Given the description of an element on the screen output the (x, y) to click on. 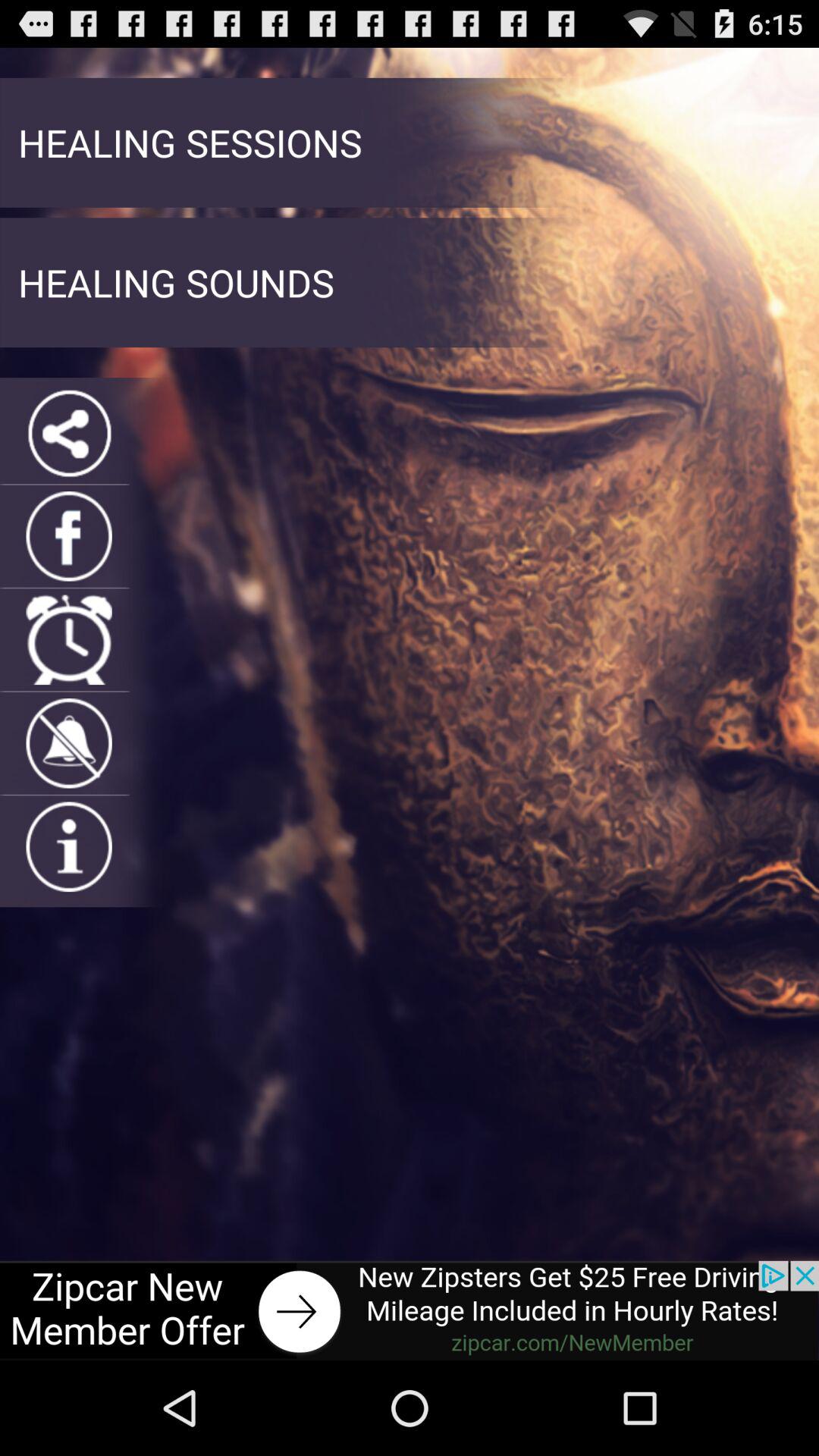
share on facebook (69, 536)
